Given the description of an element on the screen output the (x, y) to click on. 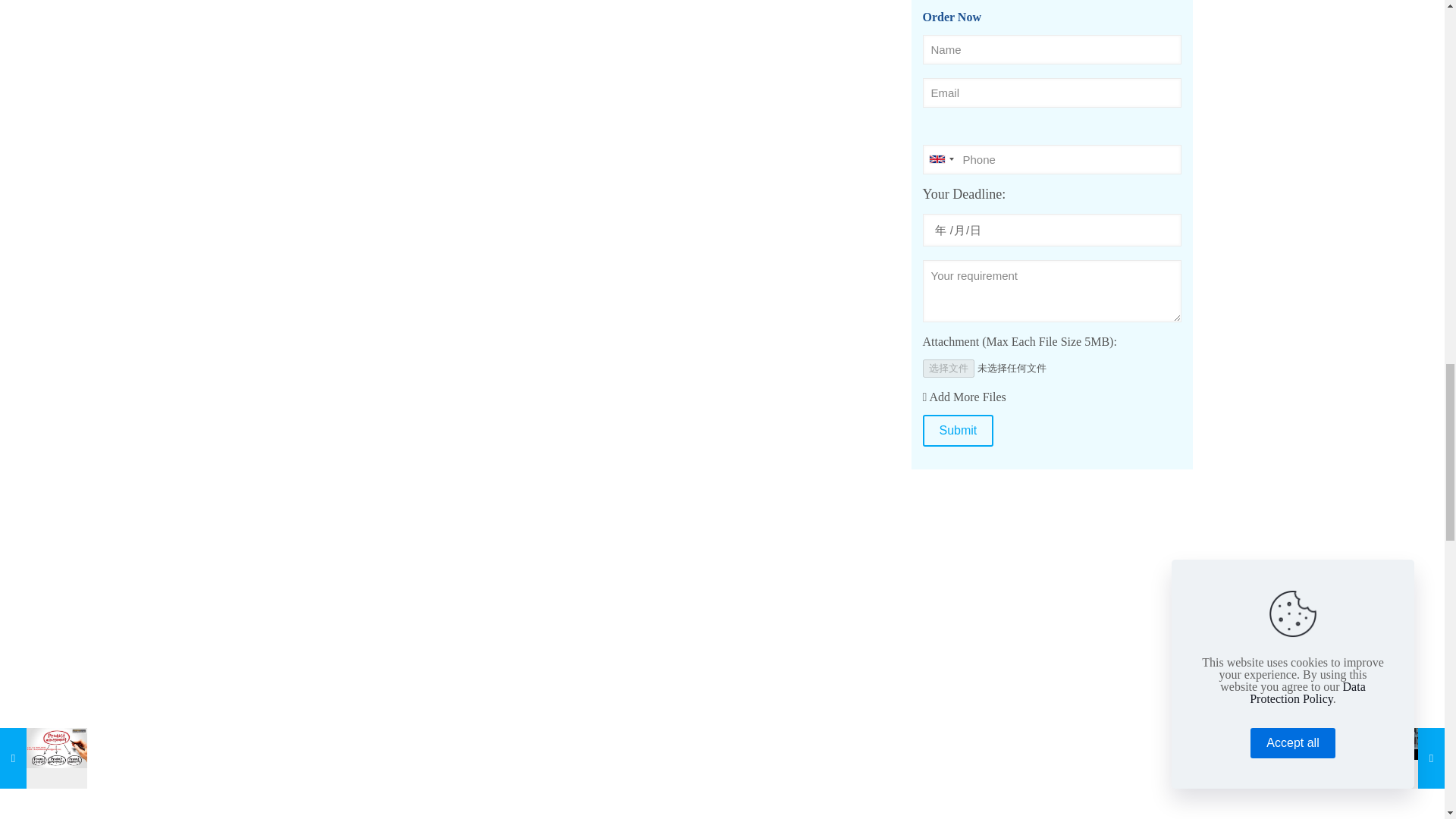
Submit (956, 430)
